Given the description of an element on the screen output the (x, y) to click on. 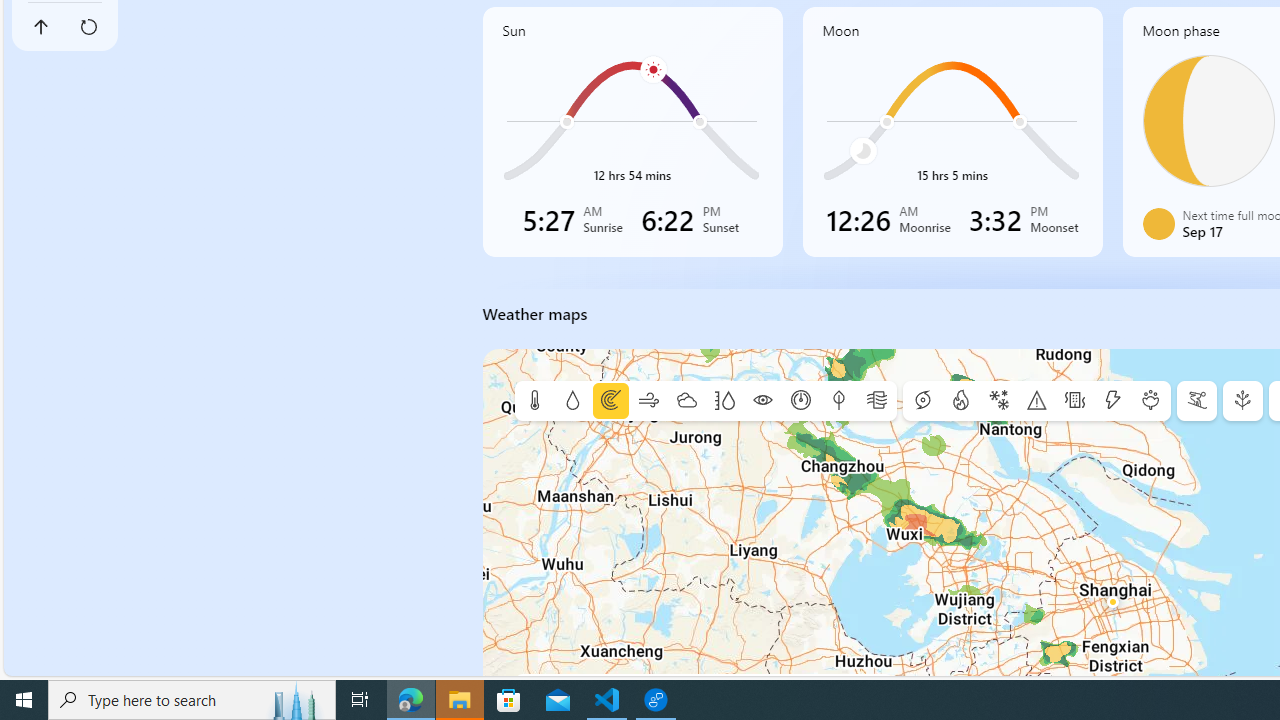
Visibility (761, 401)
E-tree (1241, 401)
Back to top (41, 26)
Lightning (1112, 401)
Hurricane (921, 401)
Earthquake (1074, 401)
Class: moonImg-DS-EntryPoint1-1 (1158, 223)
Air quality (875, 401)
Precipitation (572, 401)
Radar (609, 401)
Humidity (724, 401)
Severe weather (1035, 401)
Sep 17 (1207, 120)
Refresh this page (89, 26)
Winter weather (998, 401)
